Given the description of an element on the screen output the (x, y) to click on. 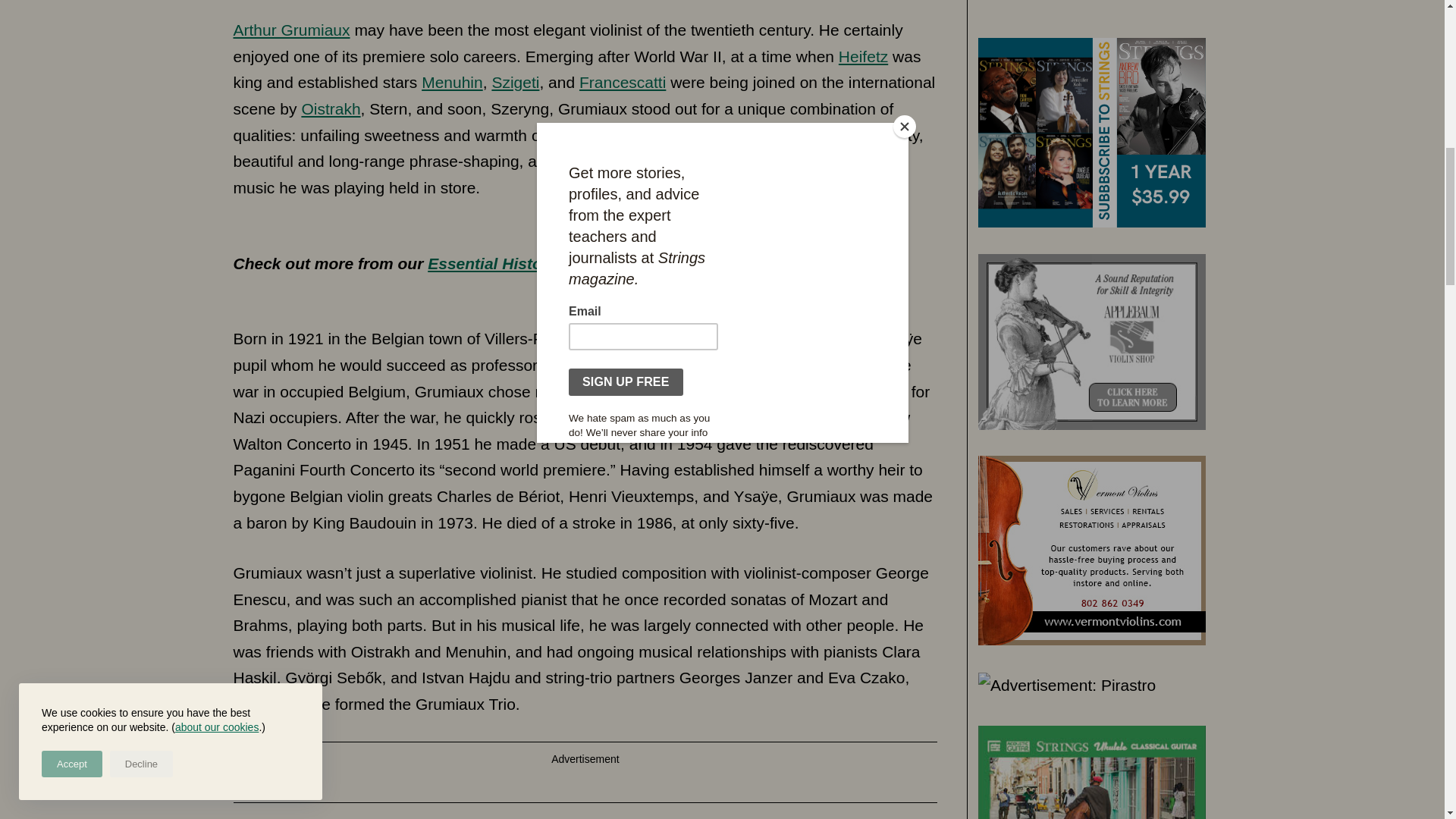
Advertisement: Pirastro (1067, 4)
Menuhin (452, 81)
Szigeti (515, 81)
Heifetz (863, 56)
Advertisement: Visit Cuba with Strings Magazine! (1091, 130)
Arthur Grumiaux (291, 29)
